Given the description of an element on the screen output the (x, y) to click on. 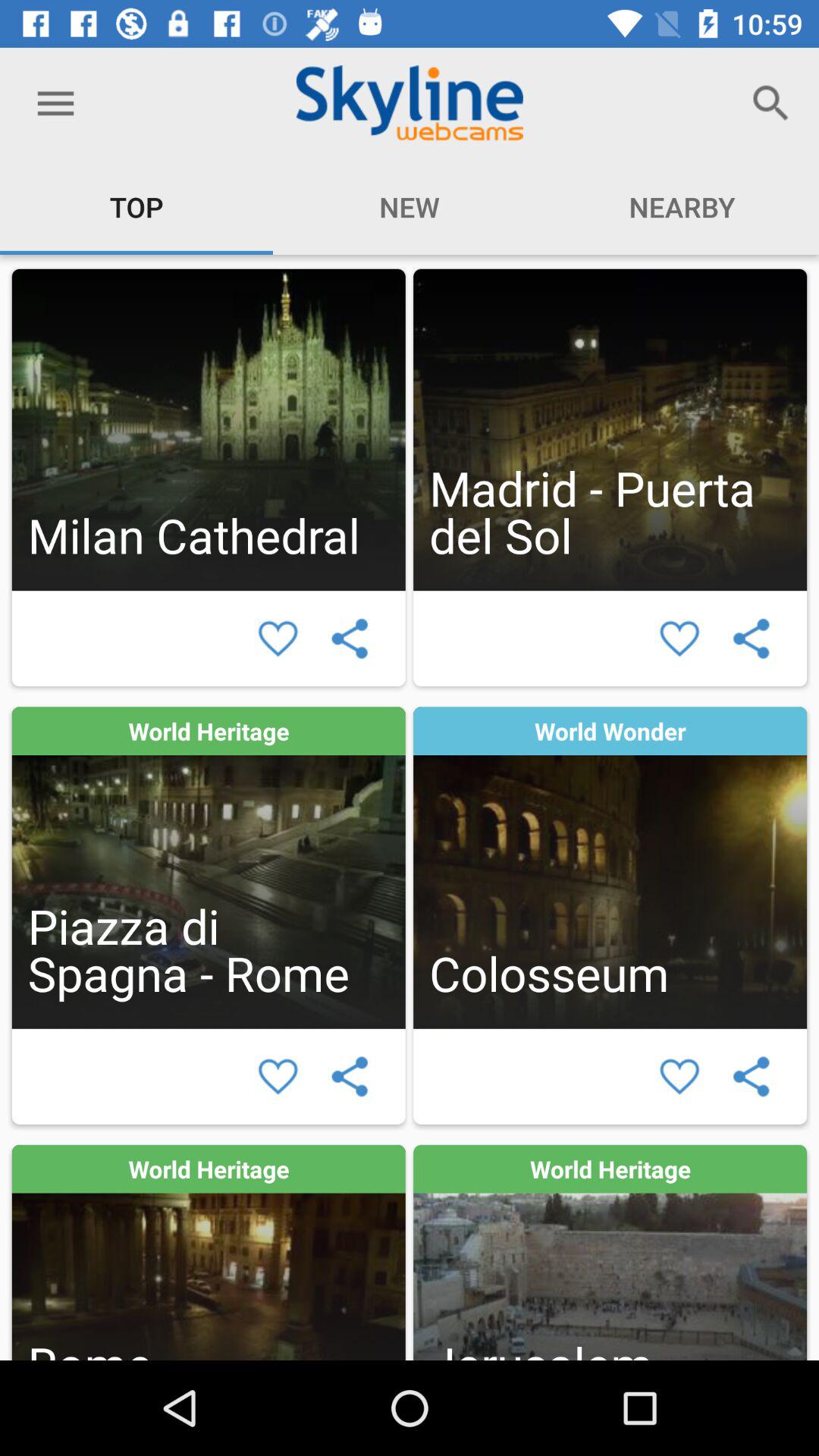
view webcam (610, 867)
